Given the description of an element on the screen output the (x, y) to click on. 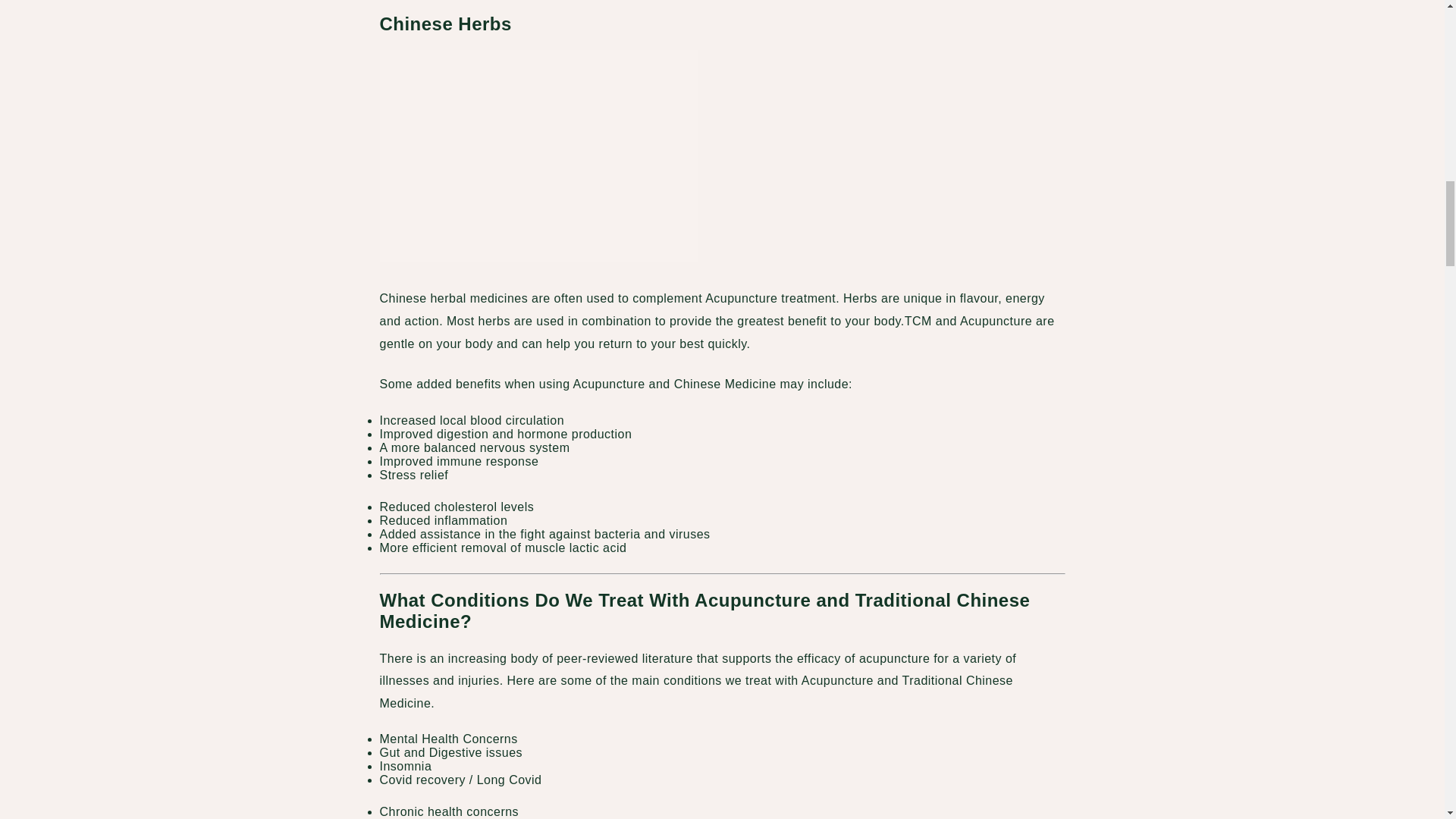
Chinese Medicine (537, 155)
